Given the description of an element on the screen output the (x, y) to click on. 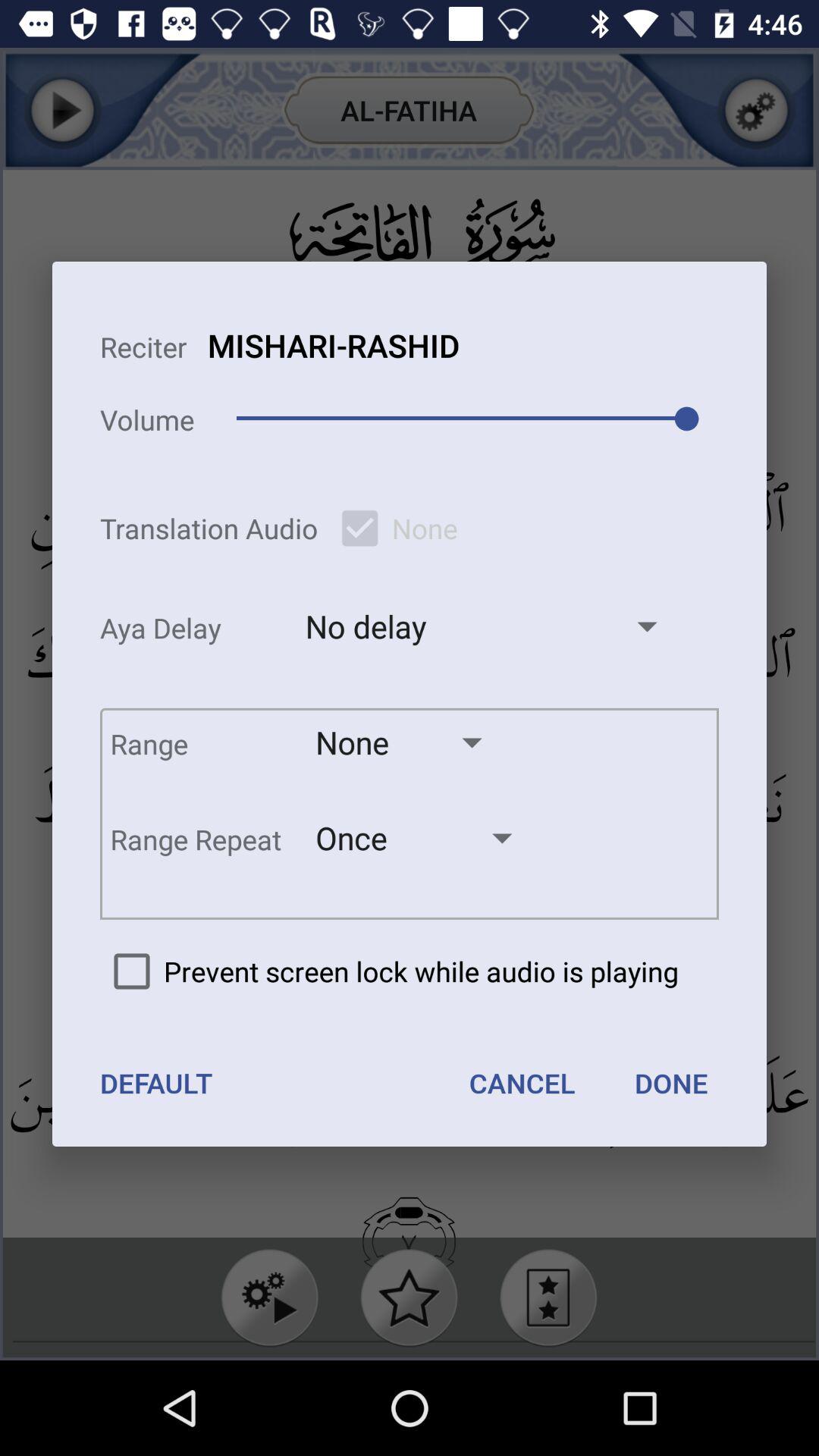
flip until the prevent screen lock item (389, 971)
